Given the description of an element on the screen output the (x, y) to click on. 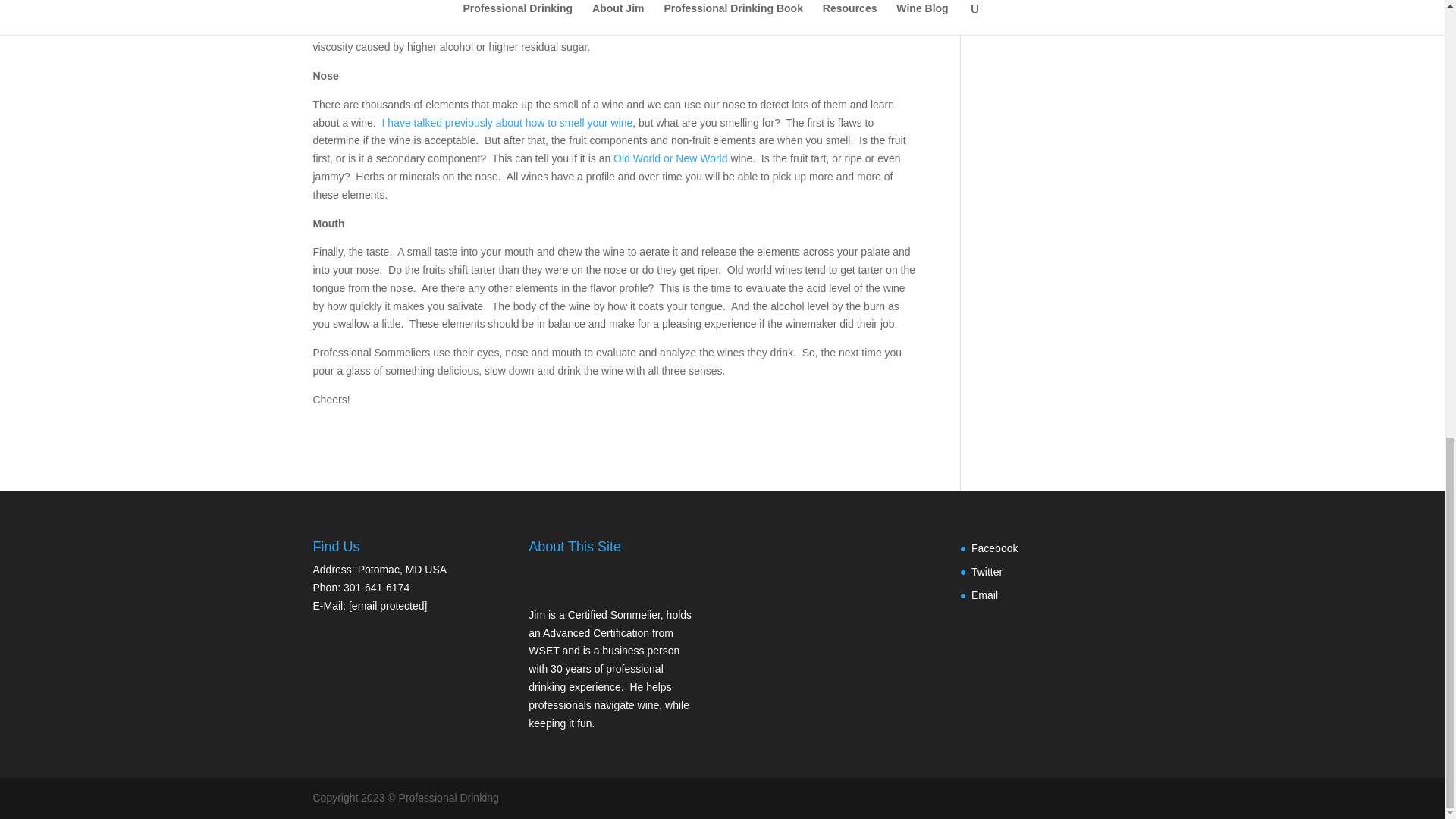
I have talked previously about how to smell your wine (507, 122)
Email (984, 594)
Old World or New World (669, 158)
Facebook (994, 548)
Twitter (987, 571)
